Given the description of an element on the screen output the (x, y) to click on. 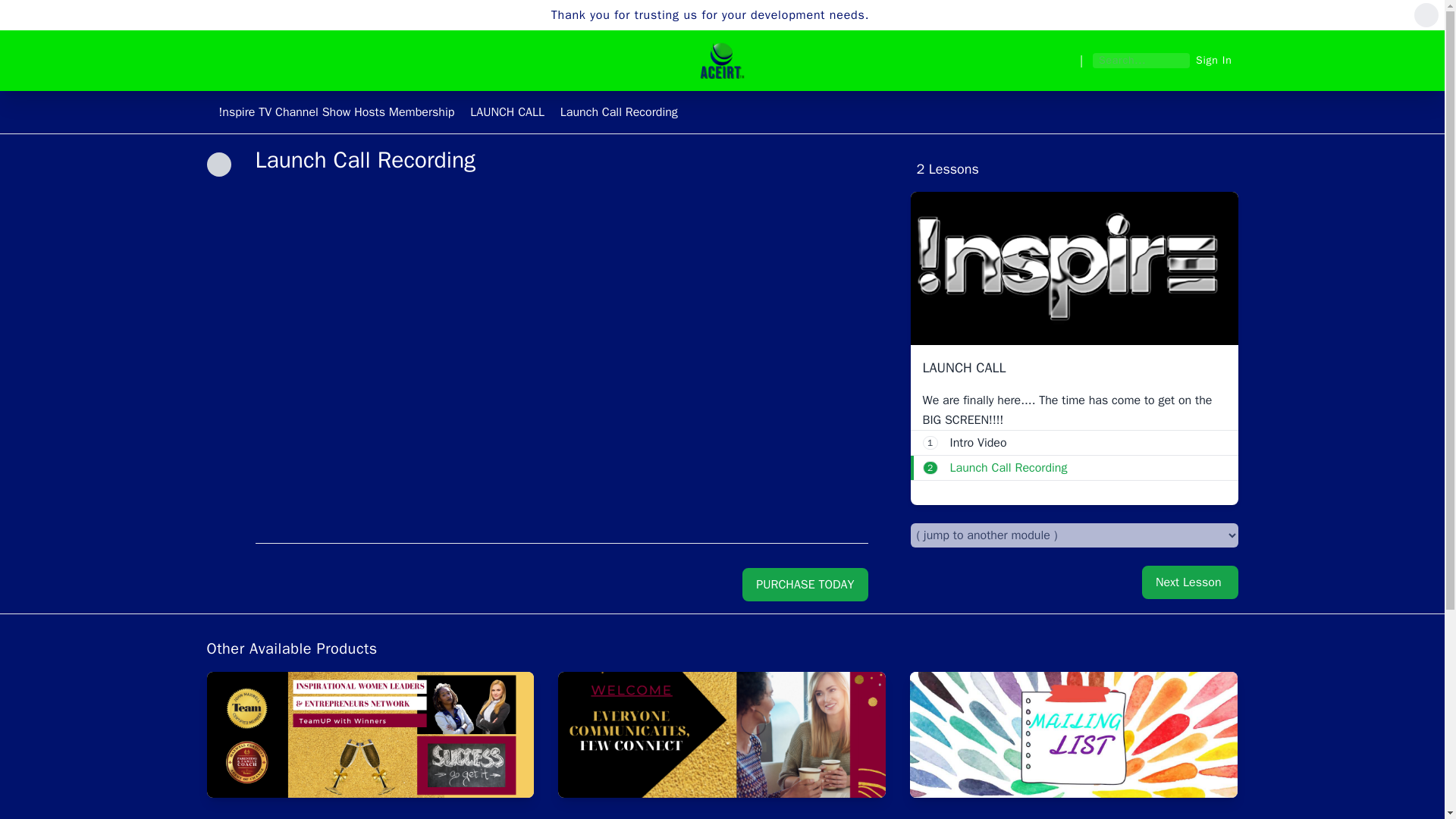
!nspire TV Channel Show Hosts Membership (338, 111)
Next Lesson (1075, 442)
search (1190, 581)
PURCHASE TODAY (20, 7)
Sign In (804, 583)
Launch Call Recording (1217, 60)
LAUNCH CALL (619, 111)
